Given the description of an element on the screen output the (x, y) to click on. 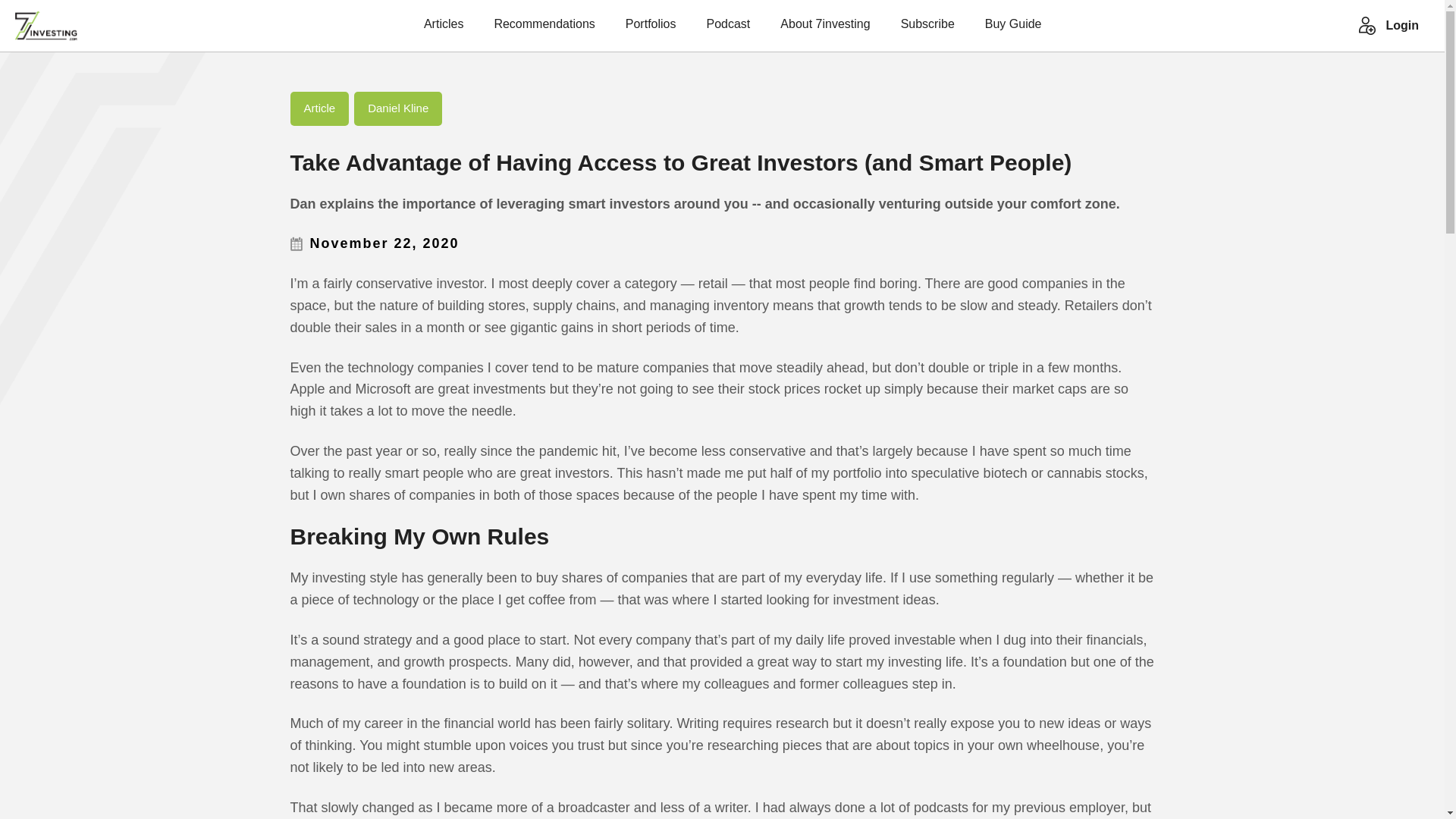
Podcast (728, 30)
About 7investing (824, 30)
Articles (443, 30)
Login (1402, 25)
Daniel Kline (398, 107)
Article (318, 107)
Recommendations (543, 30)
Buy Guide (1013, 30)
Subscribe (928, 30)
Portfolios (651, 30)
